Given the description of an element on the screen output the (x, y) to click on. 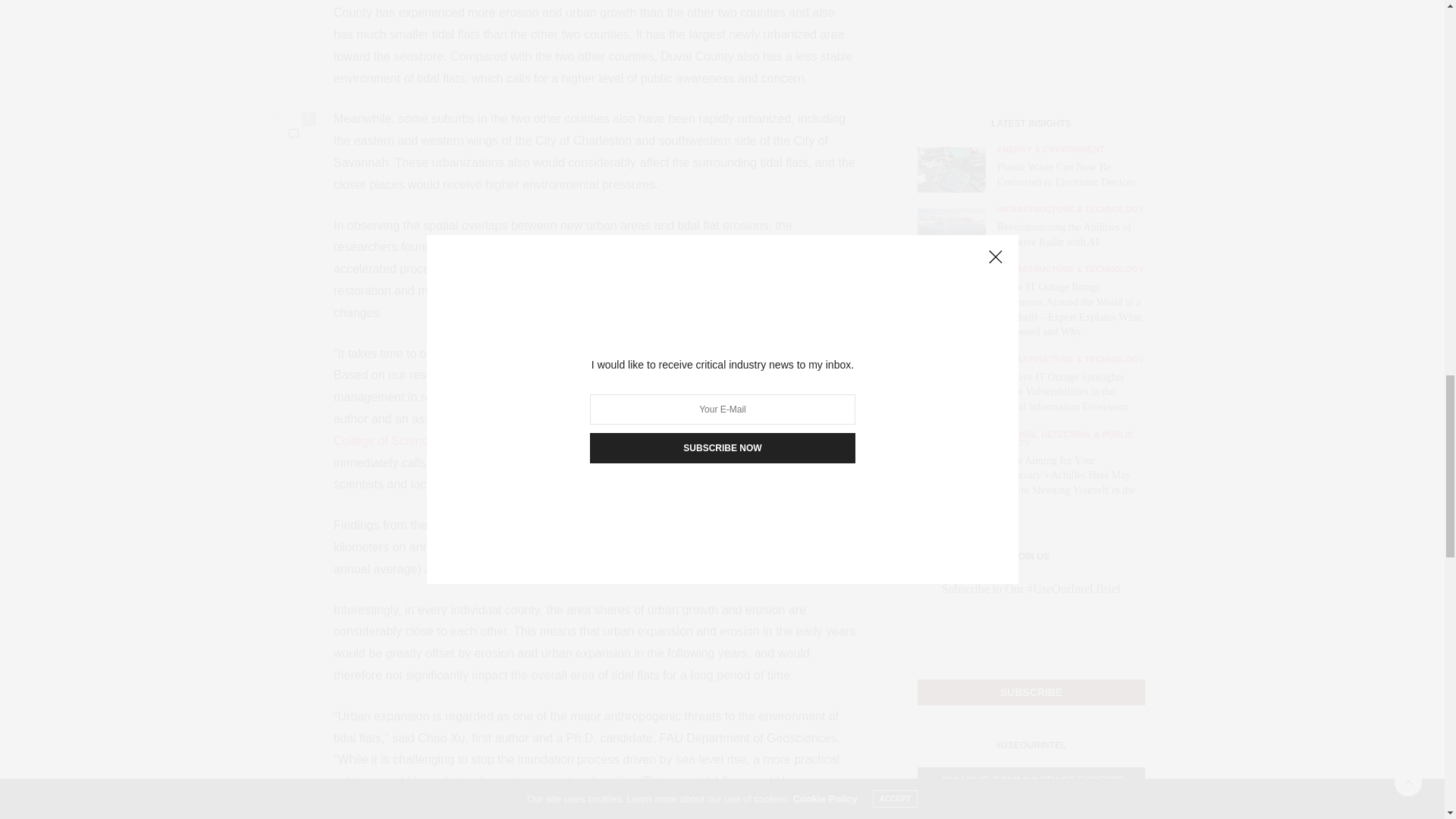
Charles E. Schmidt College of Science (593, 429)
Department of Geosciences (597, 418)
Weibo Liu (738, 396)
